Given the description of an element on the screen output the (x, y) to click on. 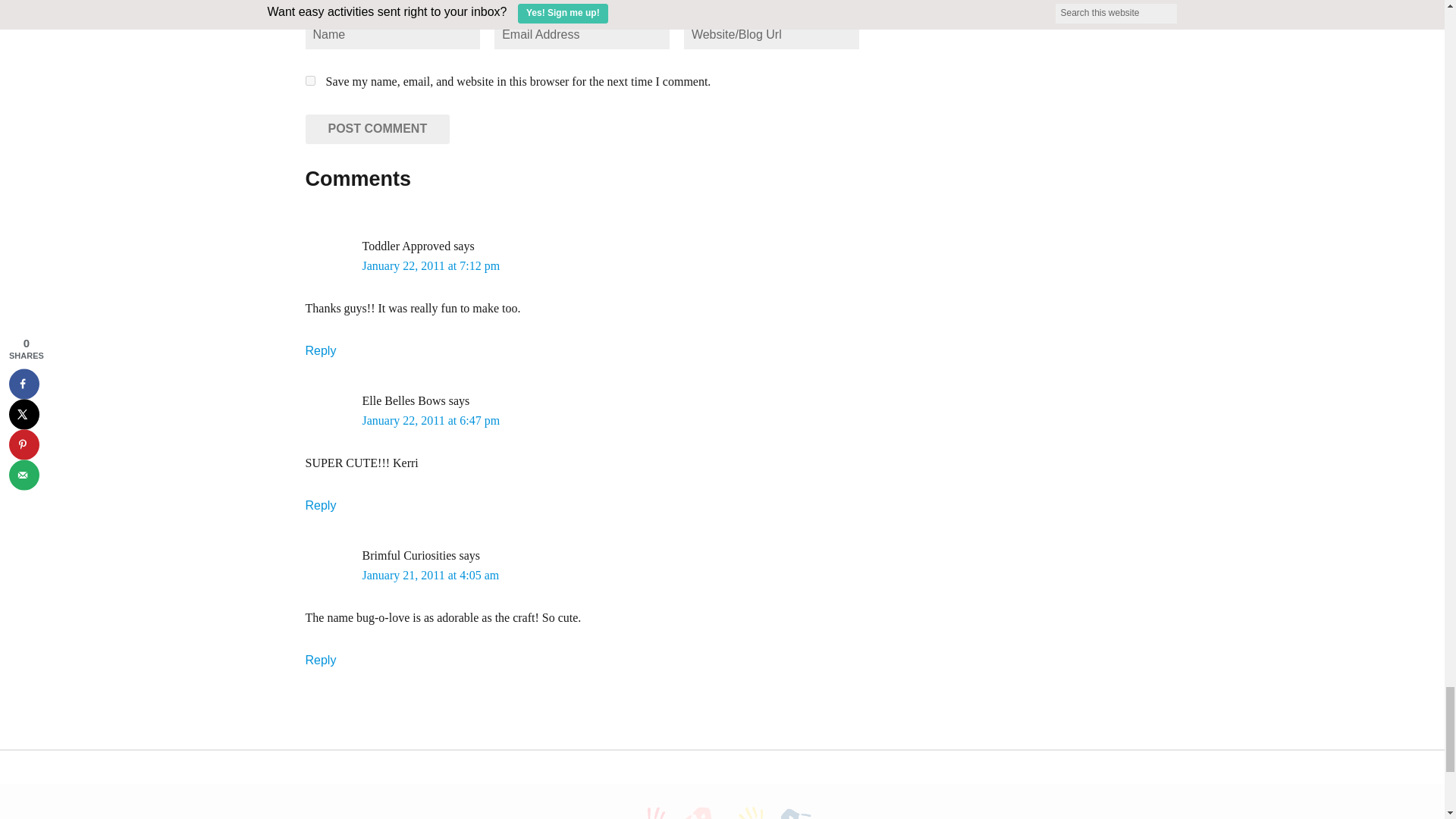
yes (309, 80)
Post Comment (376, 128)
